Given the description of an element on the screen output the (x, y) to click on. 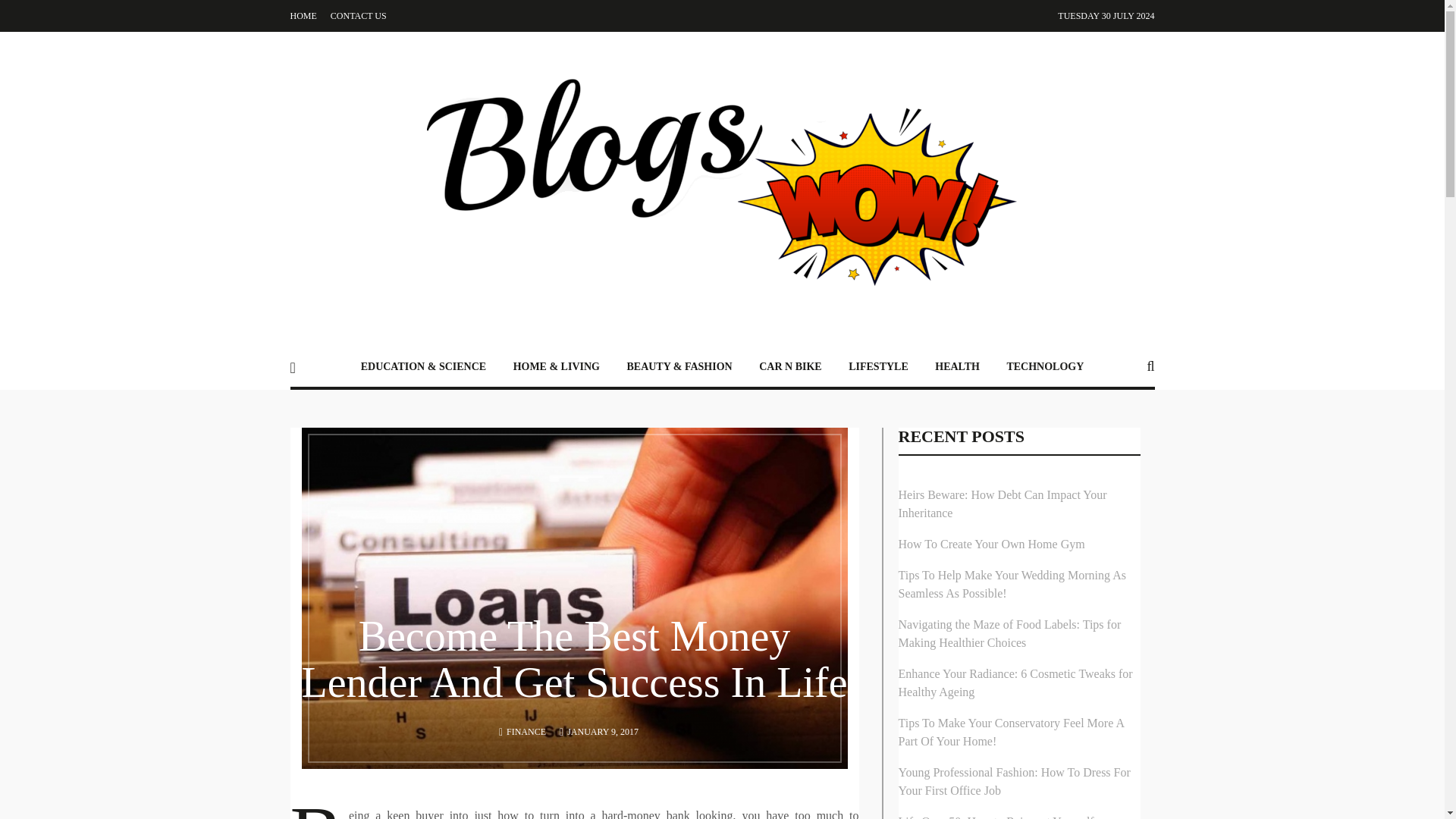
FINANCE (526, 731)
LIFESTYLE (877, 366)
TECHNOLOGY (1045, 366)
CAR N BIKE (789, 366)
HOME (302, 15)
CONTACT US (358, 15)
JANUARY 9, 2017 (603, 731)
HEALTH (957, 366)
